Given the description of an element on the screen output the (x, y) to click on. 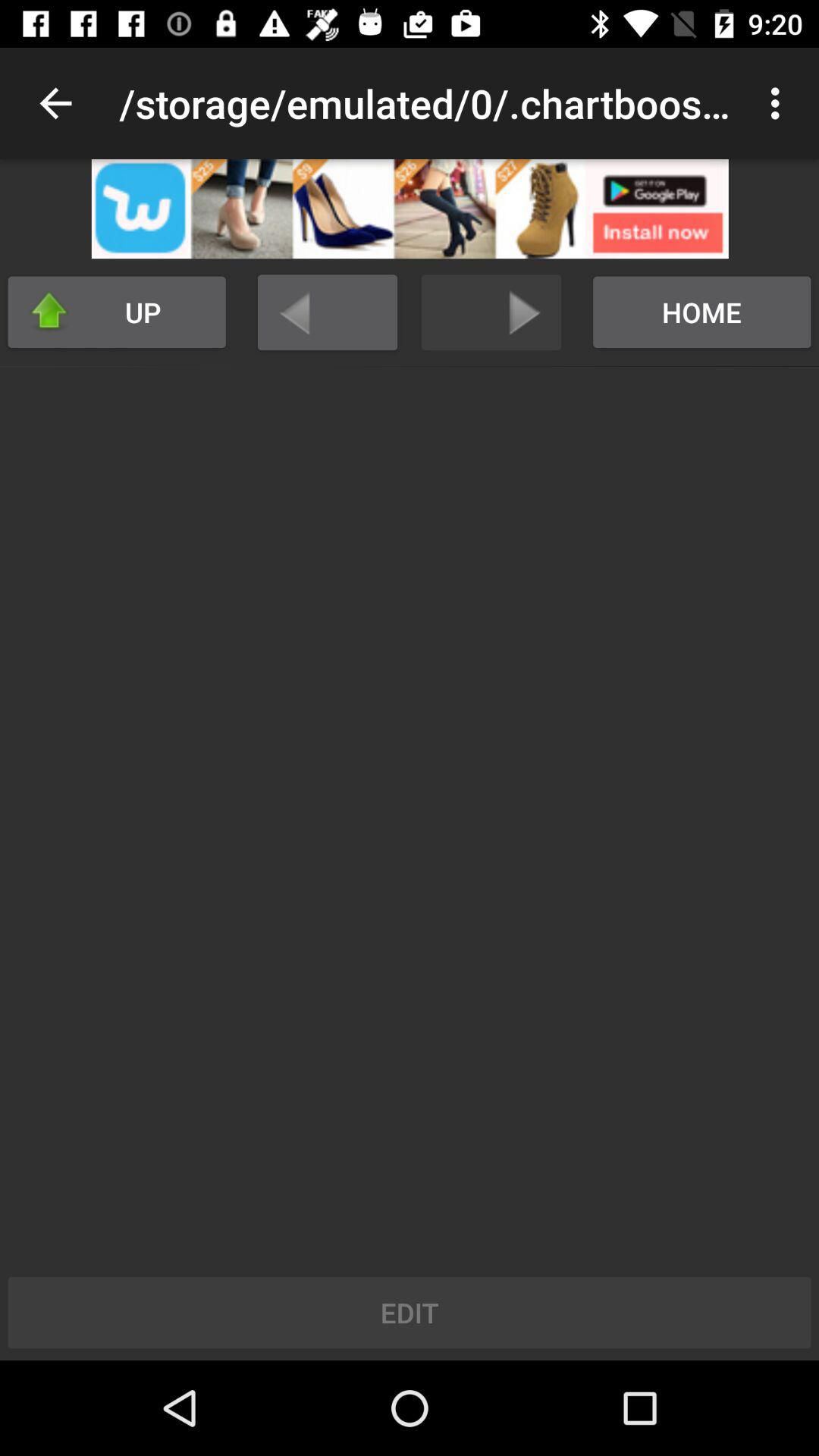
open advertisement (409, 208)
